Given the description of an element on the screen output the (x, y) to click on. 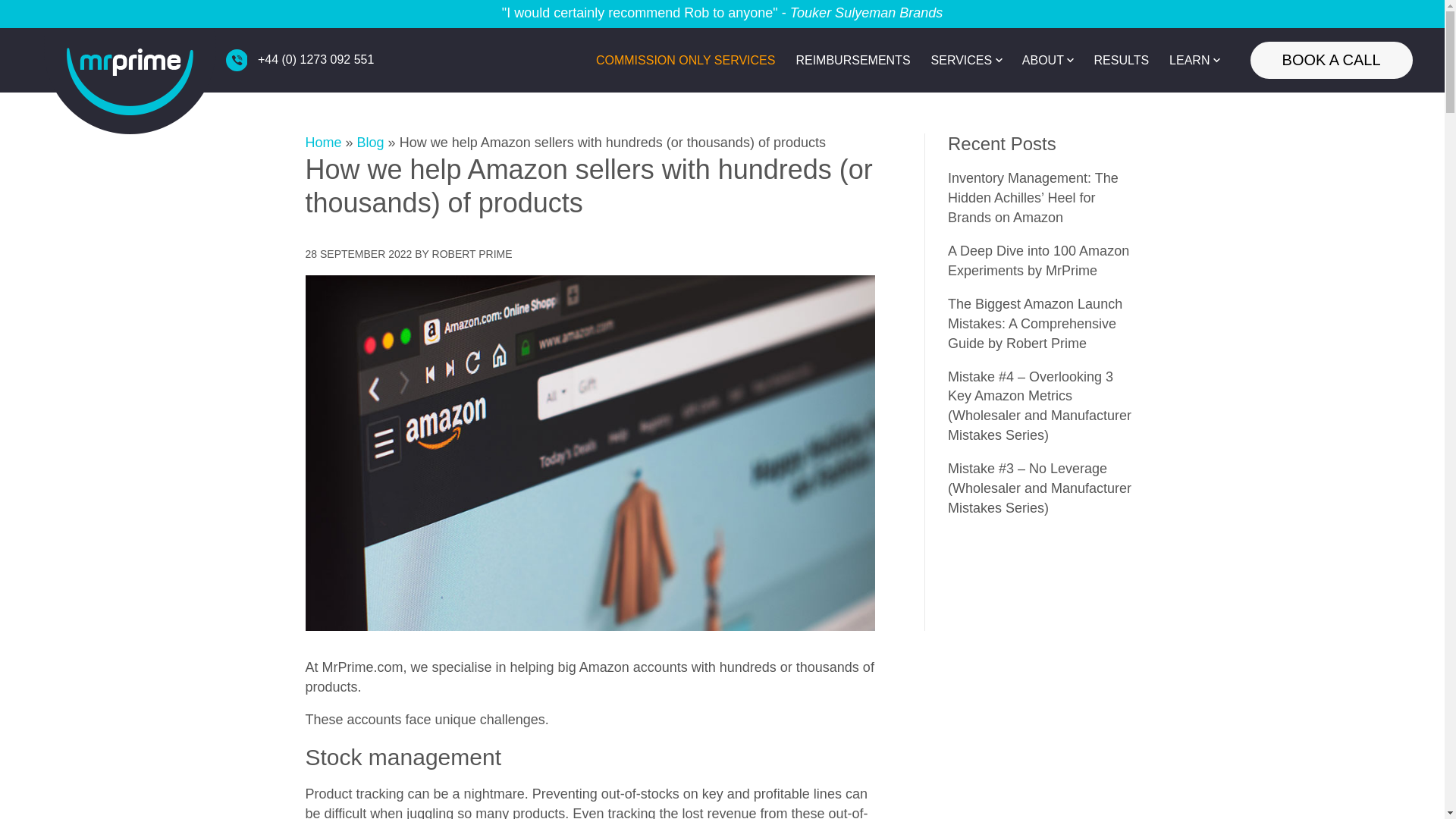
SERVICES (961, 60)
Reimbursements (853, 60)
COMMISSION ONLY SERVICES (685, 60)
Commission Only Services (685, 60)
REIMBURSEMENTS (853, 60)
Services (961, 60)
